Given the description of an element on the screen output the (x, y) to click on. 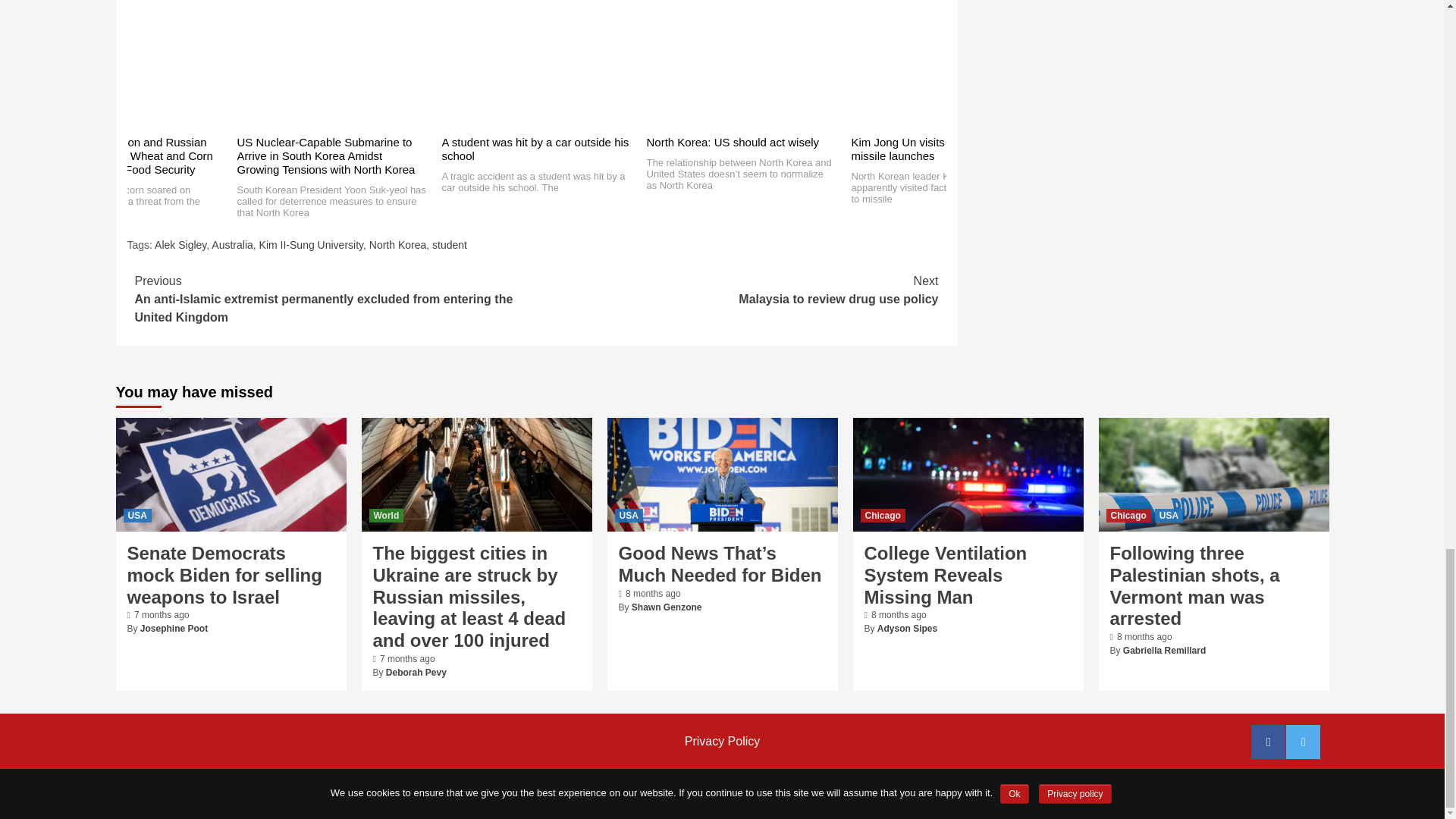
Kim Jong Un visits factories linked to missile launches (942, 148)
A student was hit by a car outside his school (534, 148)
North Korea: US should act wisely (732, 141)
